Given the description of an element on the screen output the (x, y) to click on. 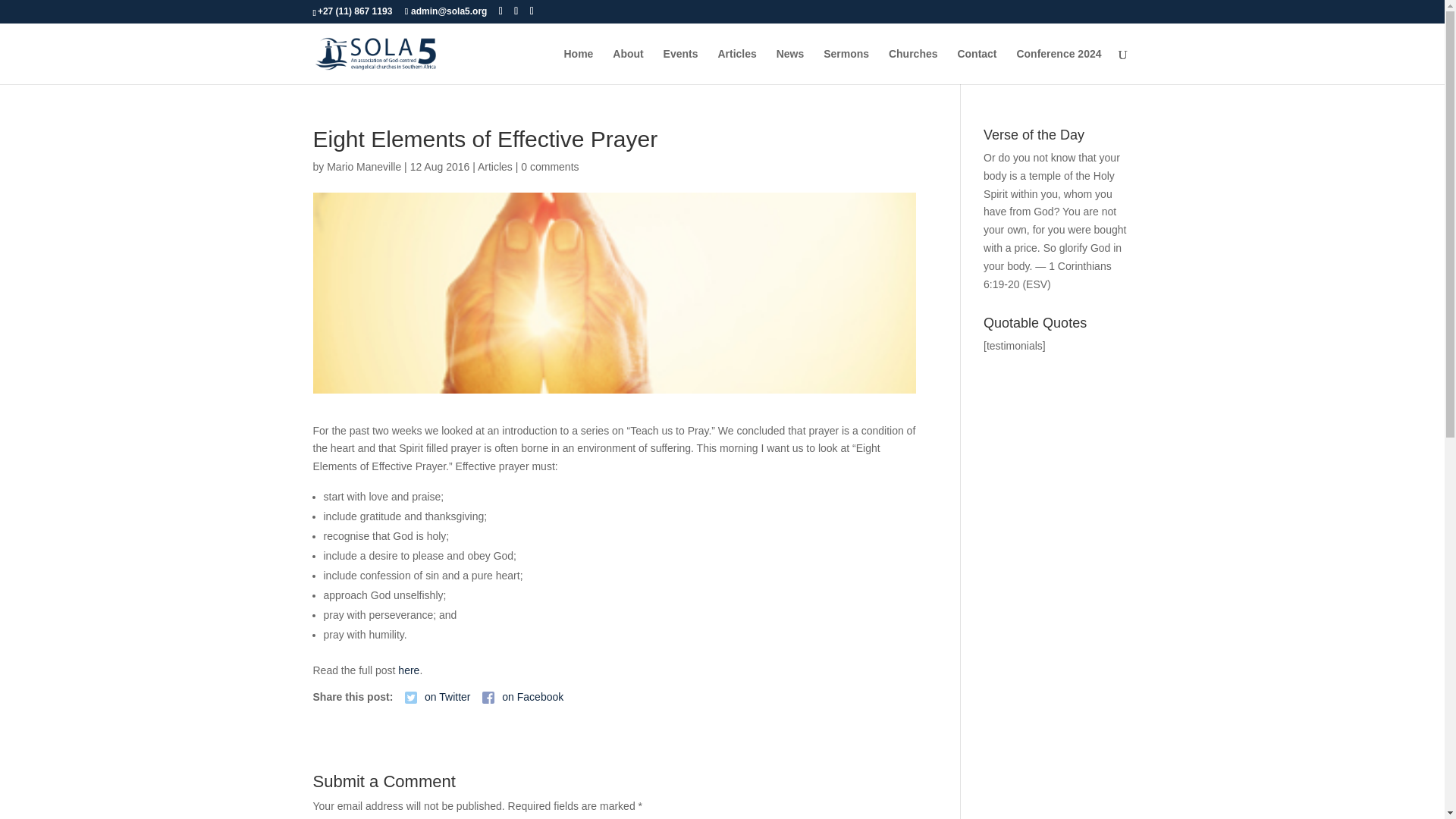
Mario Maneville (363, 166)
Contact (975, 66)
Conference 2024 (1058, 66)
Sermons (846, 66)
on Twitter (437, 697)
here (408, 670)
Articles (494, 166)
0 comments (549, 166)
Events (680, 66)
Articles (736, 66)
